Given the description of an element on the screen output the (x, y) to click on. 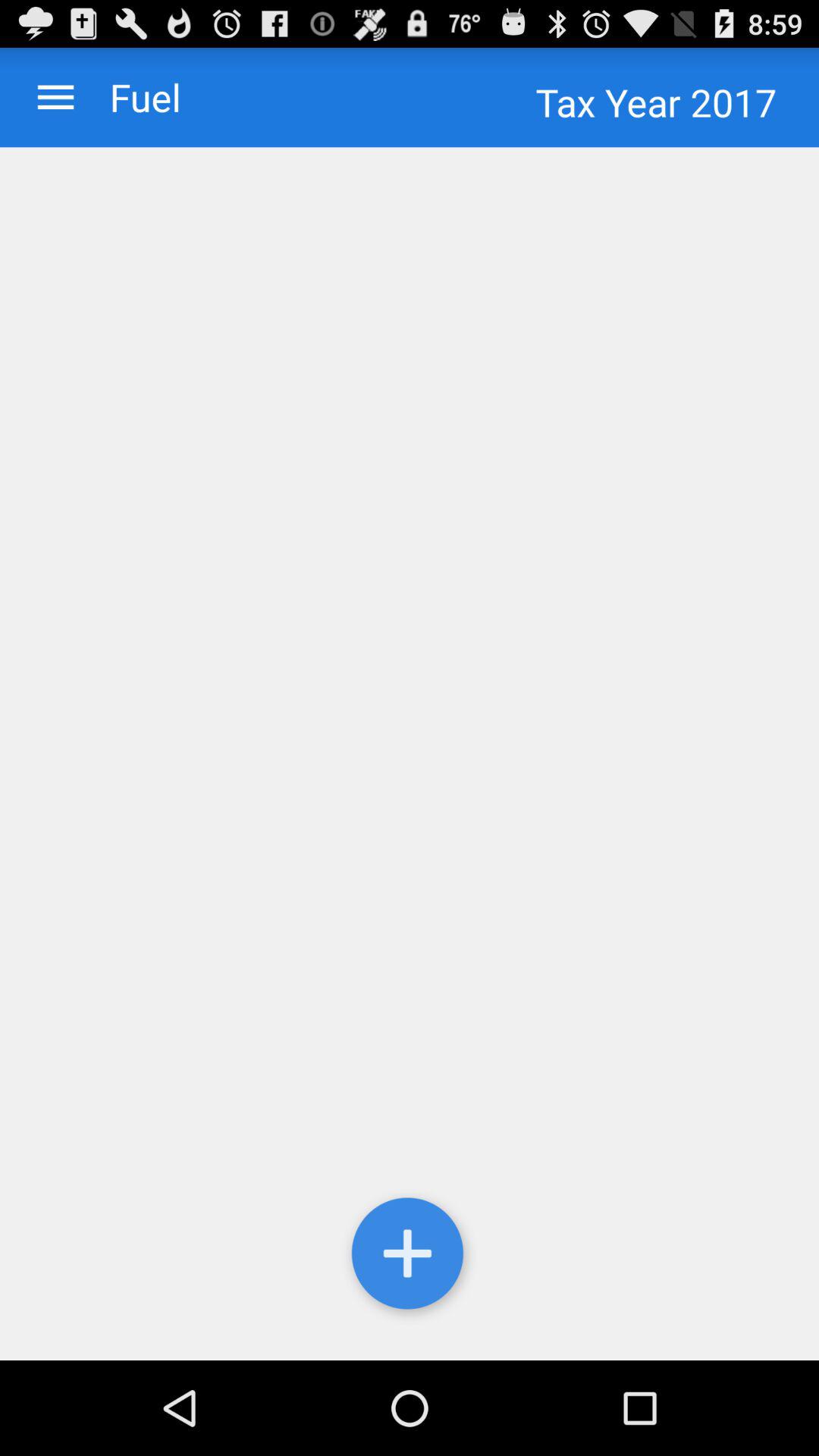
add button (409, 1256)
